Given the description of an element on the screen output the (x, y) to click on. 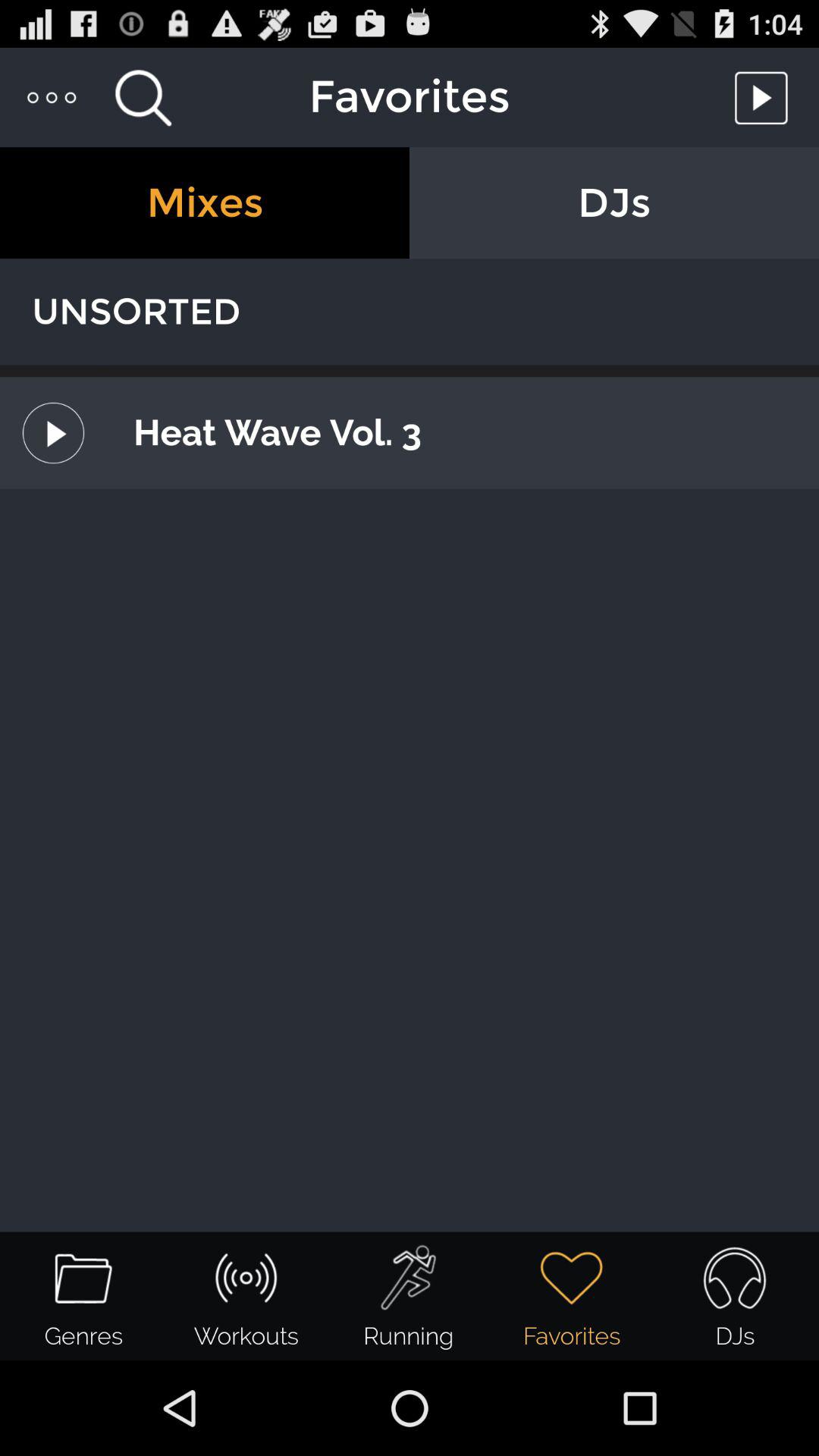
choose the item below mixes icon (409, 311)
